Given the description of an element on the screen output the (x, y) to click on. 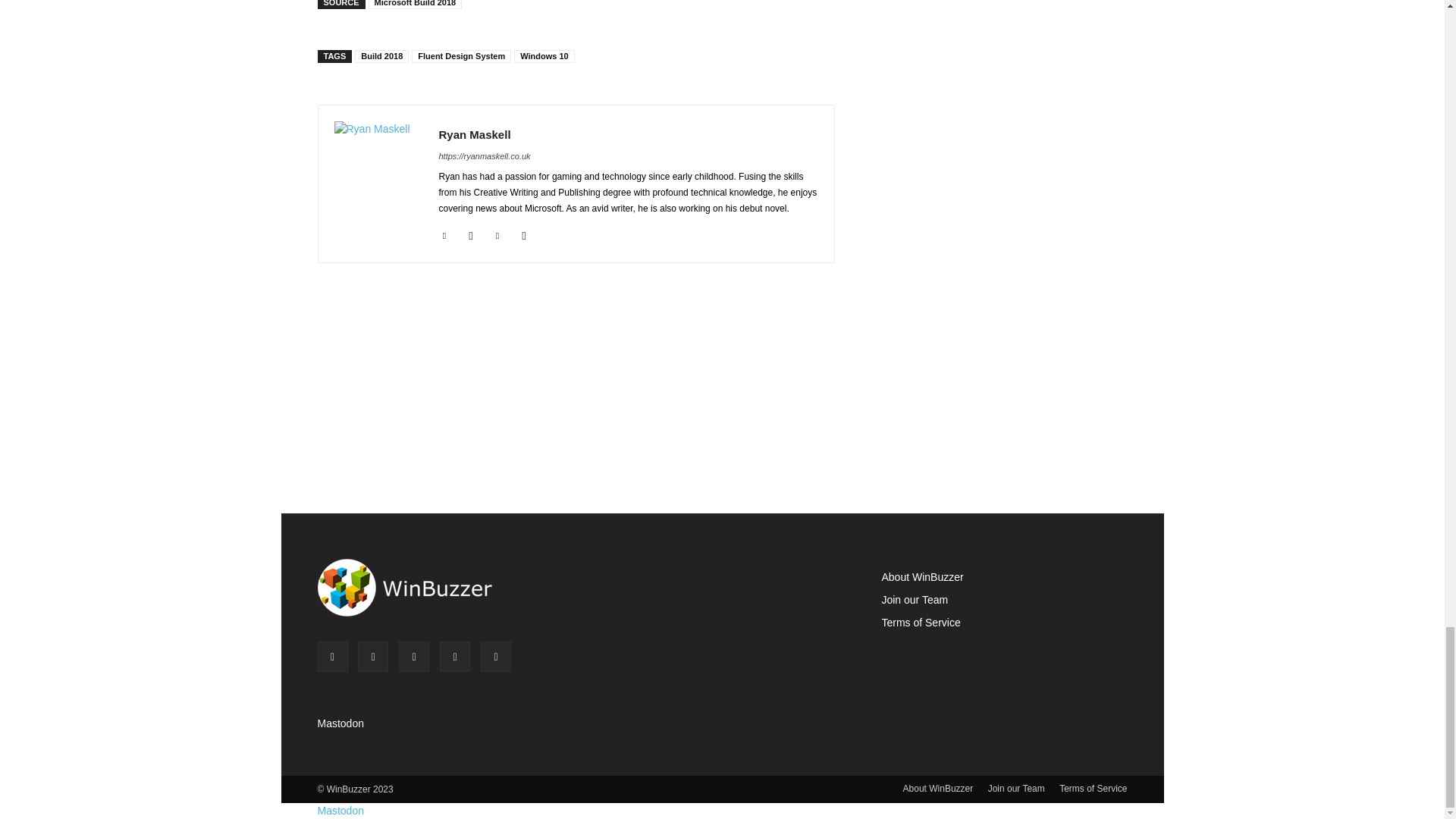
Twitter (497, 233)
Mail (471, 233)
Xing (523, 233)
Linkedin (443, 233)
